Given the description of an element on the screen output the (x, y) to click on. 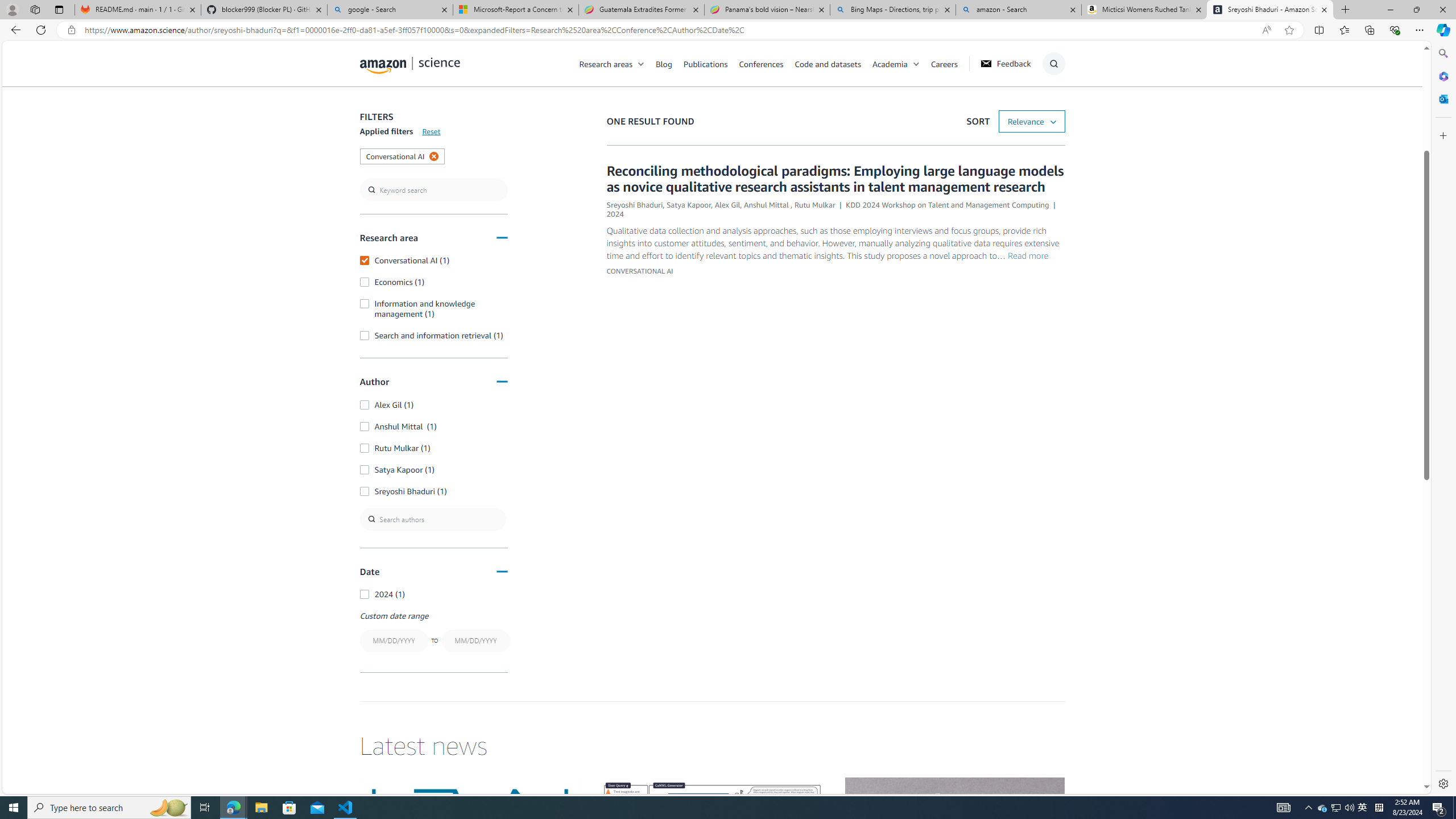
Code and datasets (833, 63)
Search authors (432, 518)
Sreyoshi Bhaduri - Amazon Science (1270, 9)
Reset (431, 131)
Sreyoshi Bhaduri (633, 204)
Academia (889, 63)
